Given the description of an element on the screen output the (x, y) to click on. 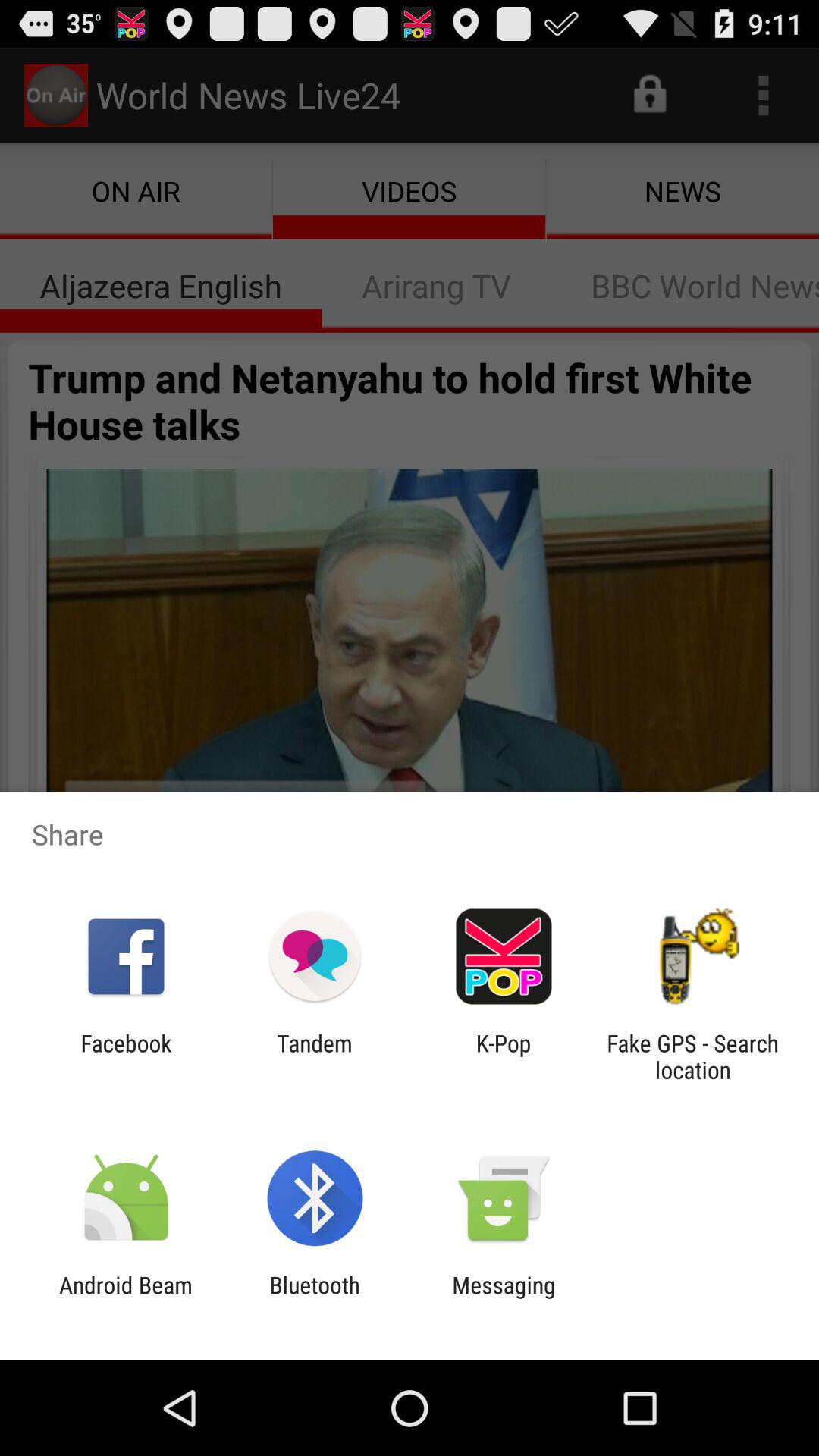
flip to the bluetooth (314, 1298)
